Given the description of an element on the screen output the (x, y) to click on. 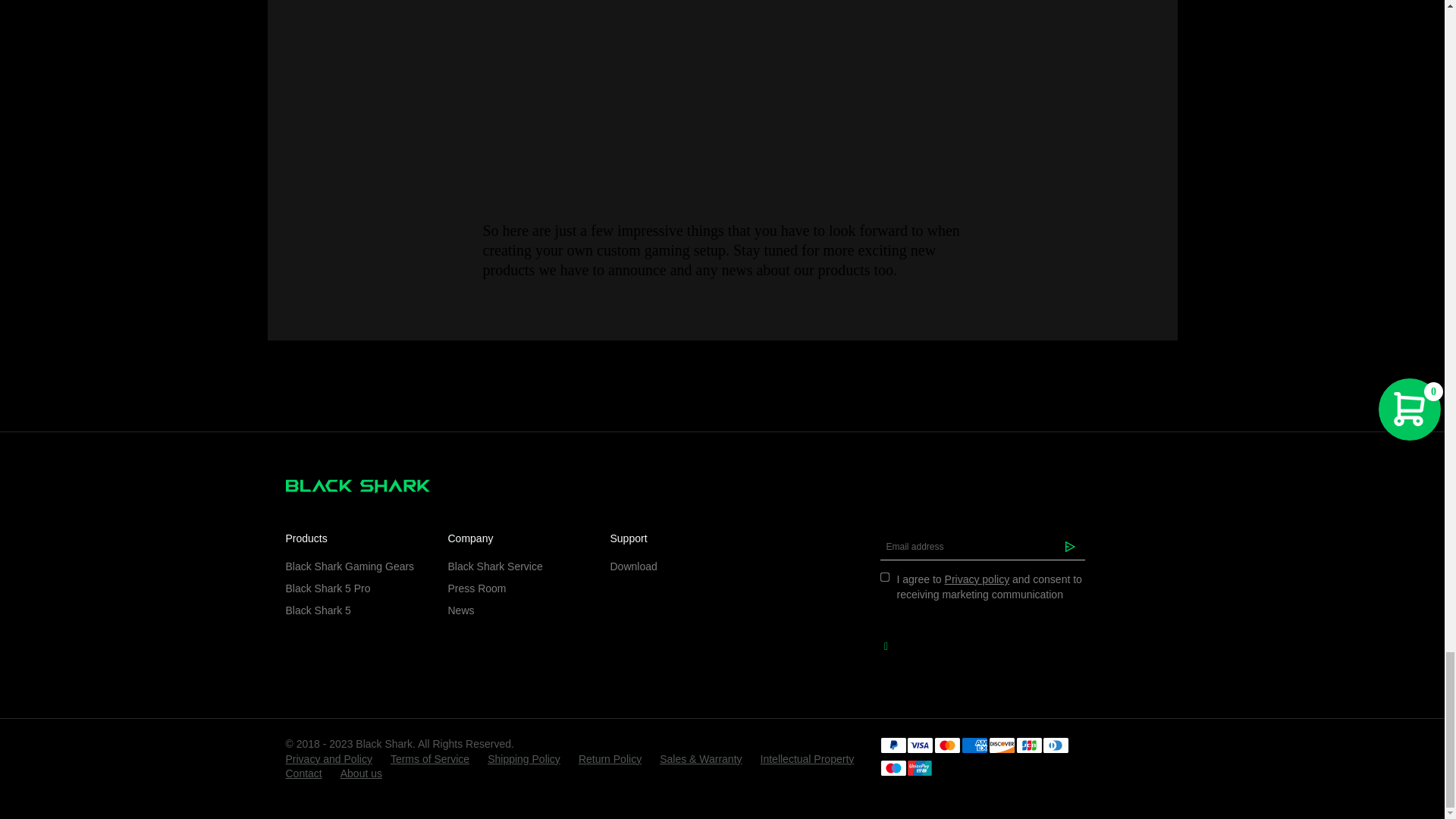
agree (883, 576)
Black Shark 5 (357, 610)
Black Shark 5 Pro (357, 588)
Black Shark Gaming Gears (357, 566)
